Given the description of an element on the screen output the (x, y) to click on. 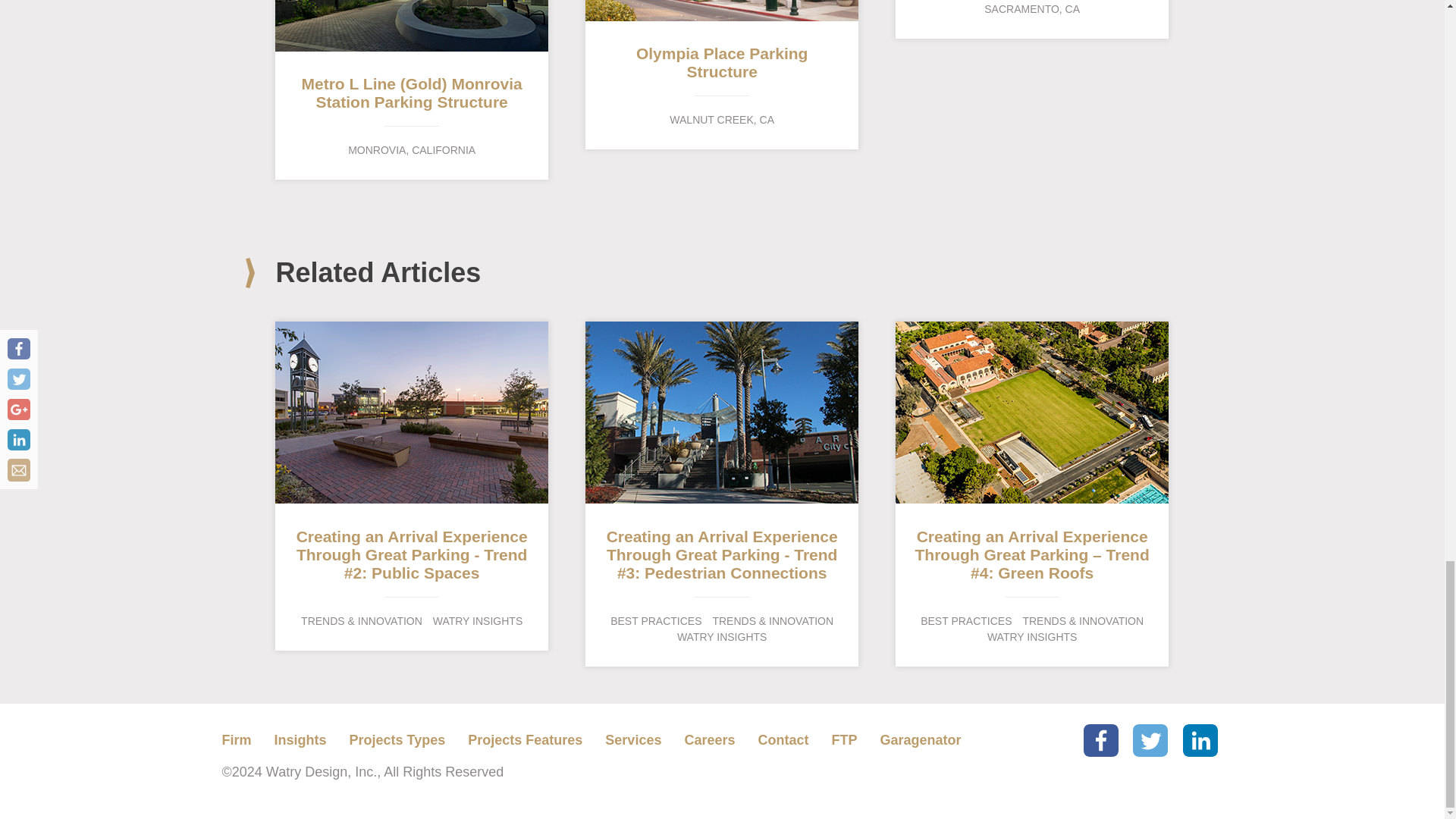
Projects Types (1032, 19)
Firm (722, 74)
Insights (397, 739)
